Given the description of an element on the screen output the (x, y) to click on. 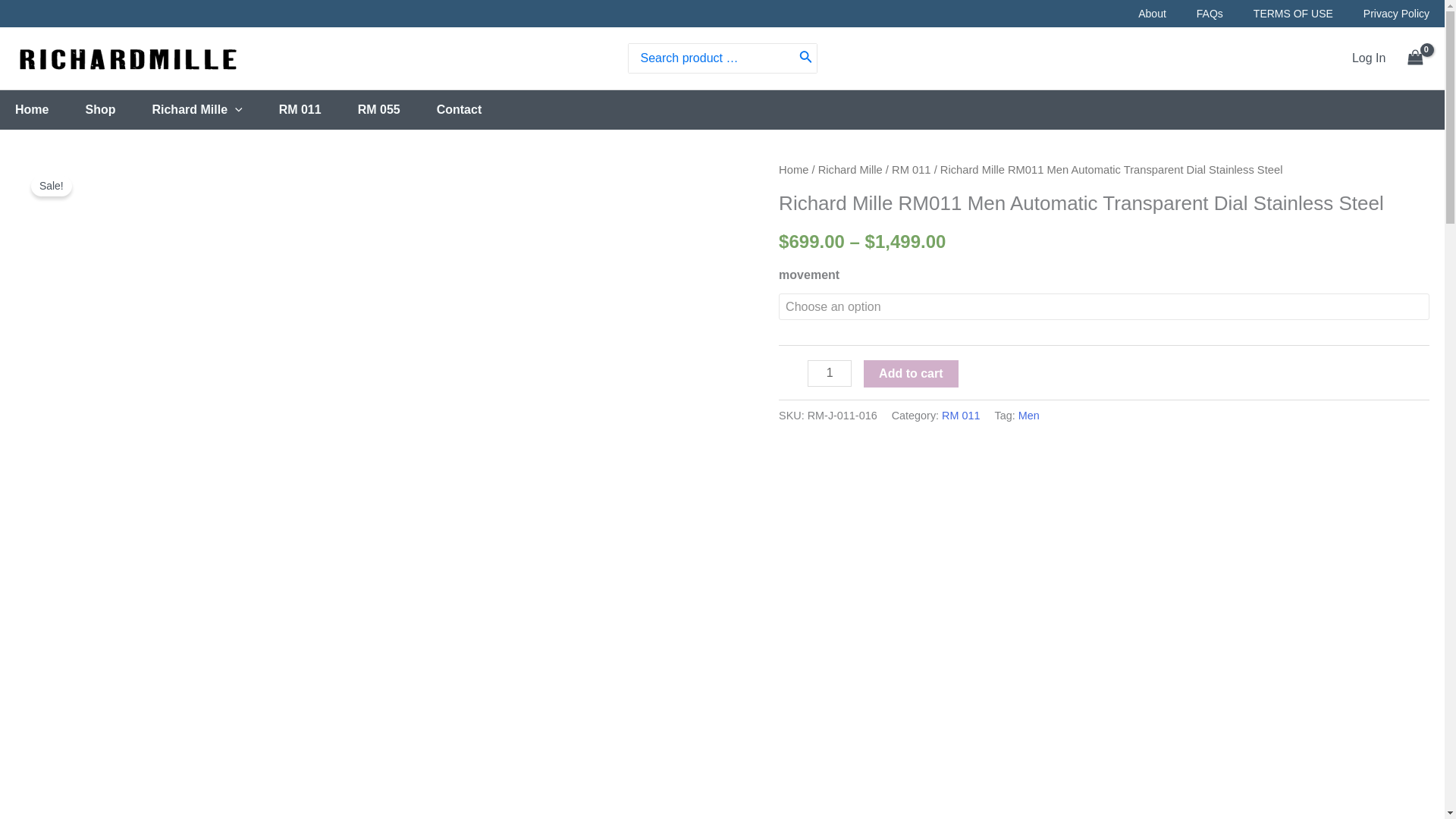
Richard Mille (214, 109)
Privacy Policy (1381, 13)
Contact (477, 109)
Shop (117, 109)
TERMS OF USE (1278, 13)
About (1137, 13)
Home (49, 109)
RM 055 (397, 109)
Log In (1369, 57)
RM 011 (318, 109)
